Given the description of an element on the screen output the (x, y) to click on. 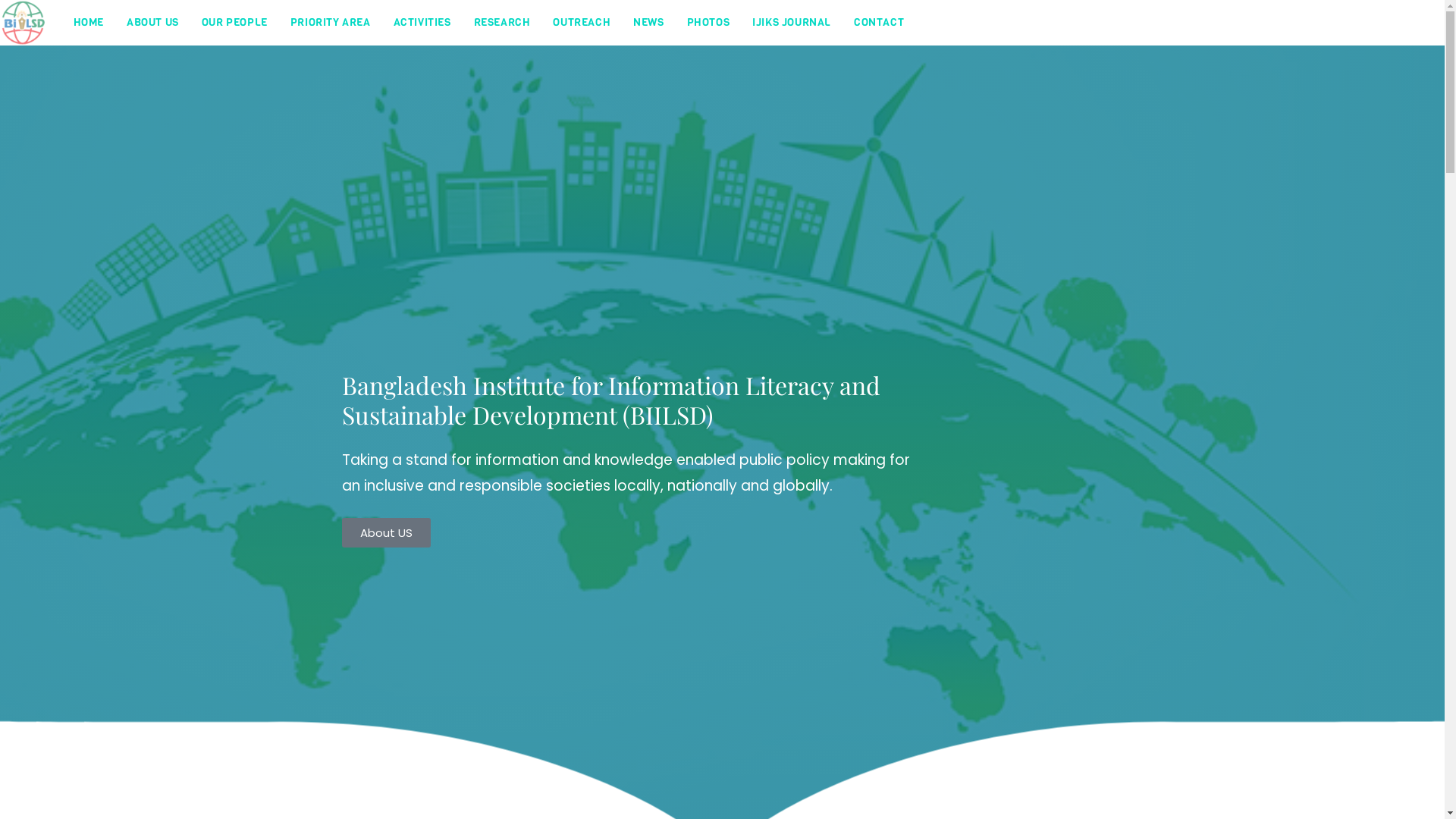
IJIKS JOURNAL Element type: text (791, 22)
PRIORITY AREA Element type: text (330, 22)
HOME Element type: text (88, 22)
PHOTOS Element type: text (708, 22)
NEWS Element type: text (647, 22)
OUTREACH Element type: text (581, 22)
RESEARCH Element type: text (502, 22)
CONTACT Element type: text (878, 22)
About US Element type: text (385, 532)
ABOUT US Element type: text (152, 22)
ACTIVITIES Element type: text (422, 22)
OUR PEOPLE Element type: text (234, 22)
